Given the description of an element on the screen output the (x, y) to click on. 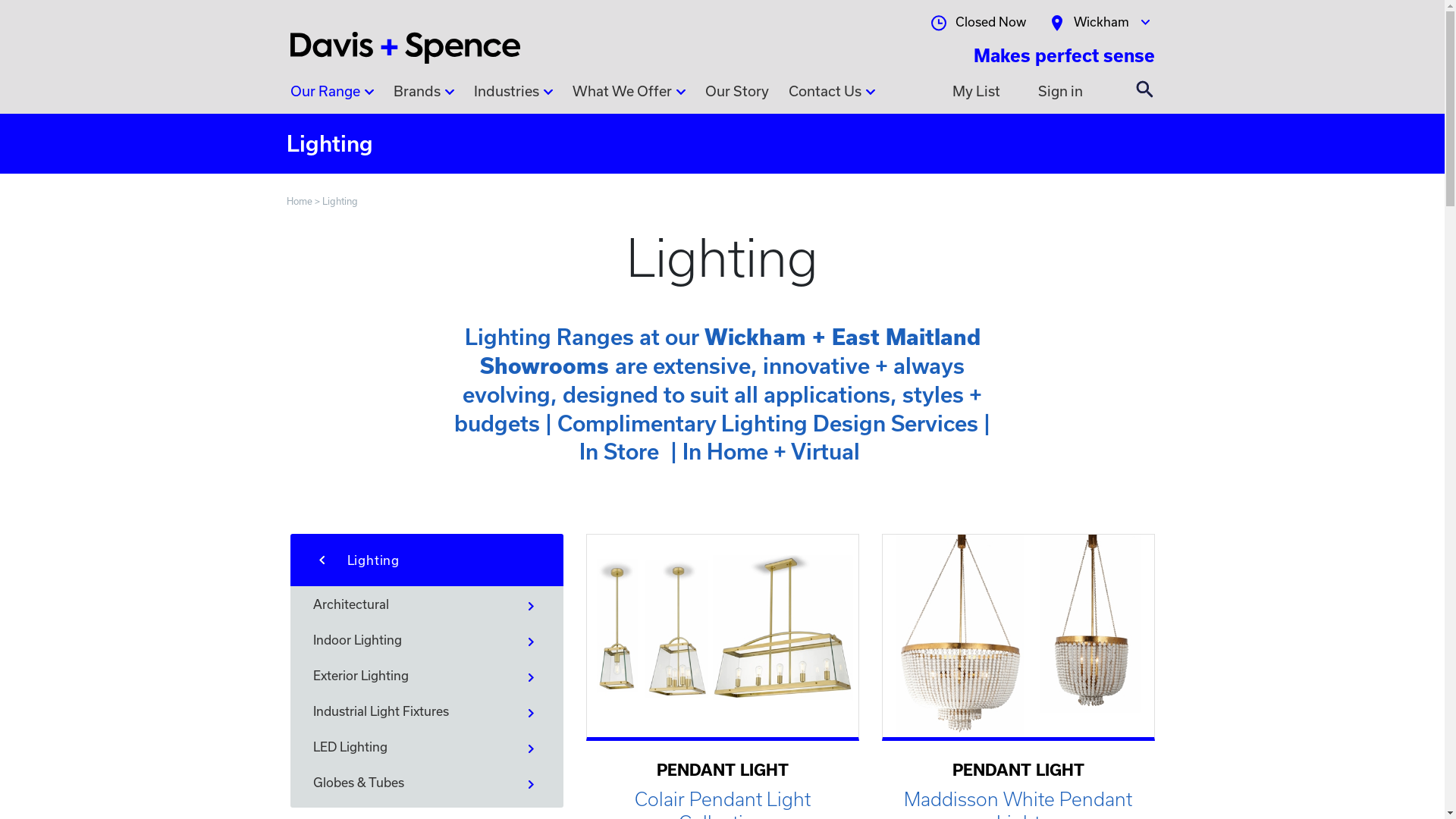
Our Range Element type: text (331, 94)
Lighting Element type: text (425, 559)
LED Lighting Element type: text (425, 746)
Home Element type: text (299, 200)
My List Element type: text (976, 90)
Industrial Light Fixtures Element type: text (425, 711)
Exterior Lighting Element type: text (425, 675)
Our Story Element type: text (736, 94)
Lighting Element type: text (339, 200)
Brands Element type: text (422, 94)
Architectural Element type: text (425, 604)
Indoor Lighting Element type: text (425, 639)
Industries Element type: text (512, 94)
Sign in Element type: text (1059, 90)
What We Offer Element type: text (627, 94)
Contact Us Element type: text (831, 94)
Globes & Tubes Element type: text (425, 782)
